Given the description of an element on the screen output the (x, y) to click on. 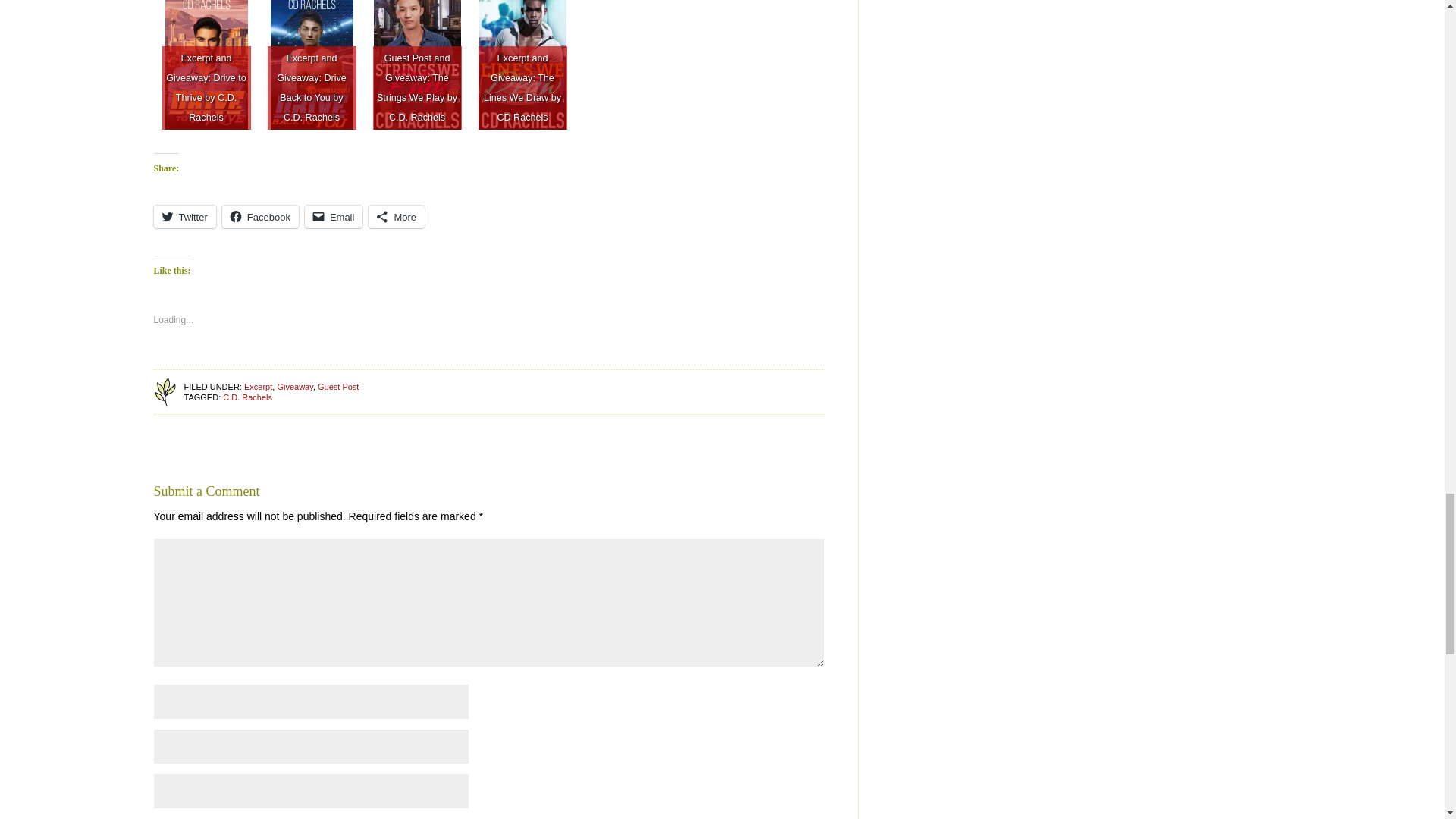
Click to email a link to a friend (333, 216)
Click to share on Facebook (260, 216)
Click to share on Twitter (183, 216)
